Given the description of an element on the screen output the (x, y) to click on. 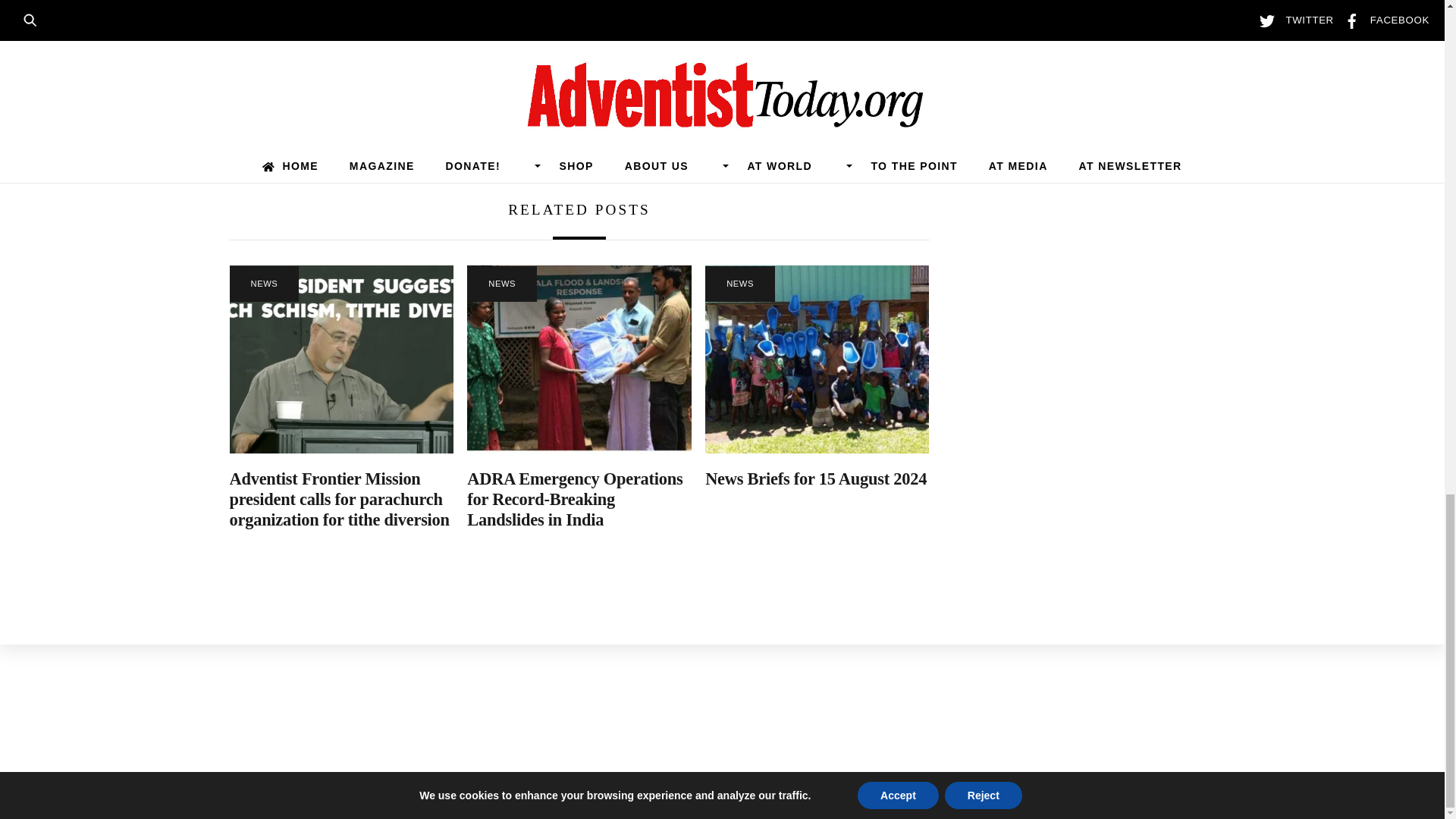
NEWS (263, 284)
Adventists Urged to Study Ordination Issue for Themselves (392, 116)
NEWS (502, 284)
Oakwood University Requests Change in Status (764, 104)
toilets2-600x0-c-default (816, 358)
AFM (340, 358)
